Given the description of an element on the screen output the (x, y) to click on. 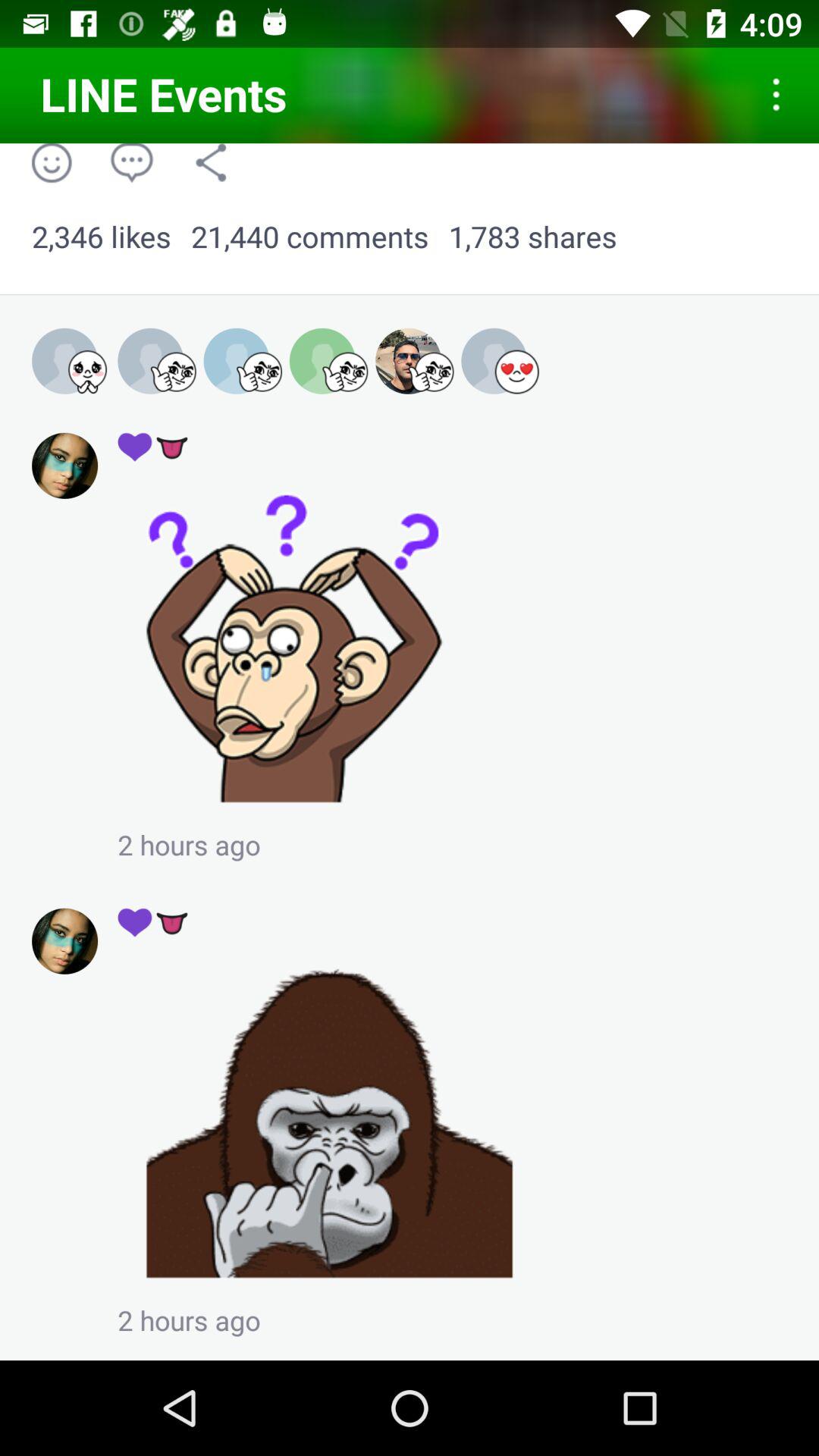
flip to 1,783 shares icon (532, 237)
